Given the description of an element on the screen output the (x, y) to click on. 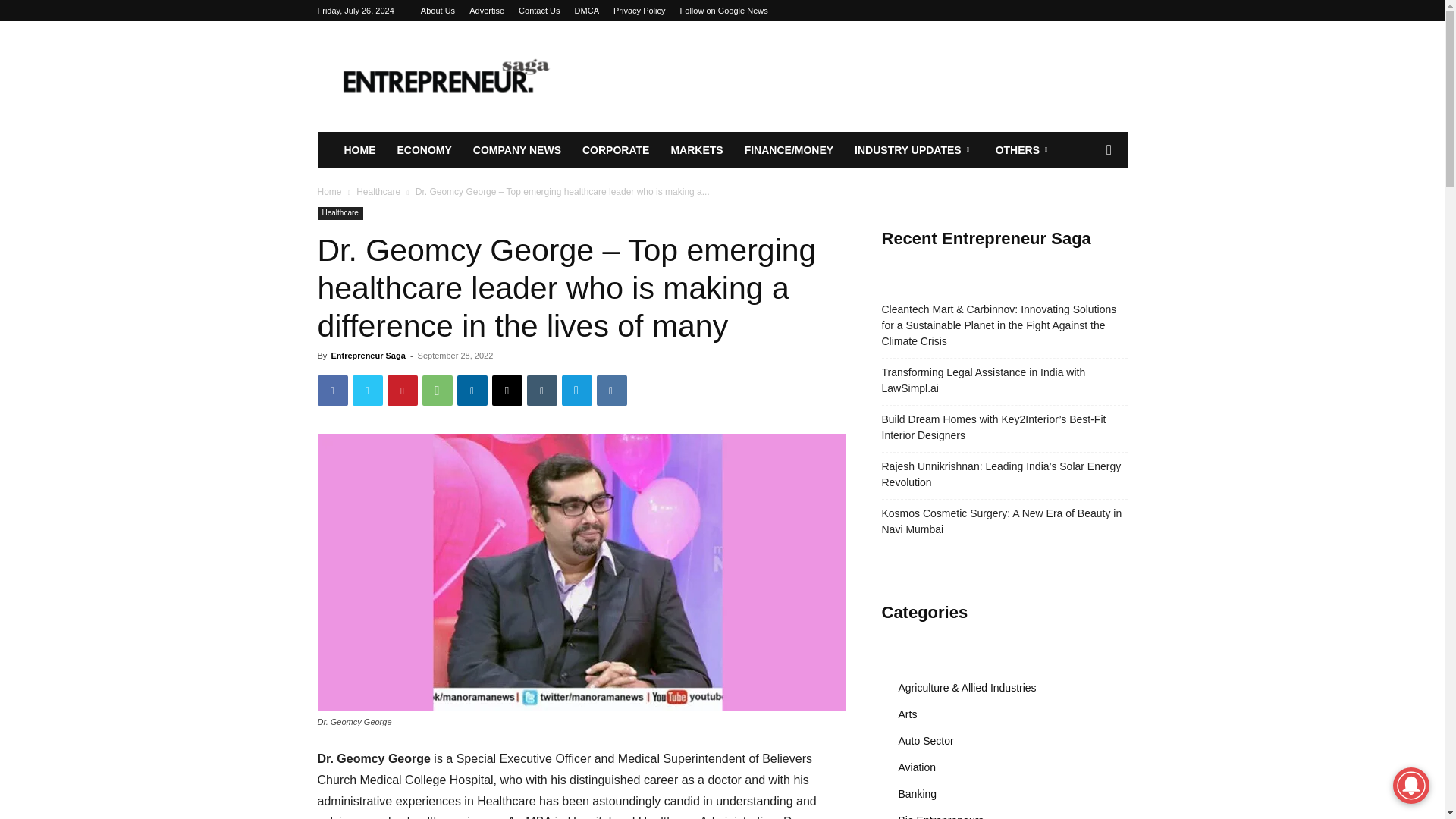
Tumblr (540, 390)
Email (506, 390)
Pinterest (401, 390)
VK (610, 390)
WhatsApp (436, 390)
Linkedin (471, 390)
Telegram (575, 390)
Facebook (332, 390)
View all posts in Healthcare (378, 191)
Twitter (366, 390)
